Given the description of an element on the screen output the (x, y) to click on. 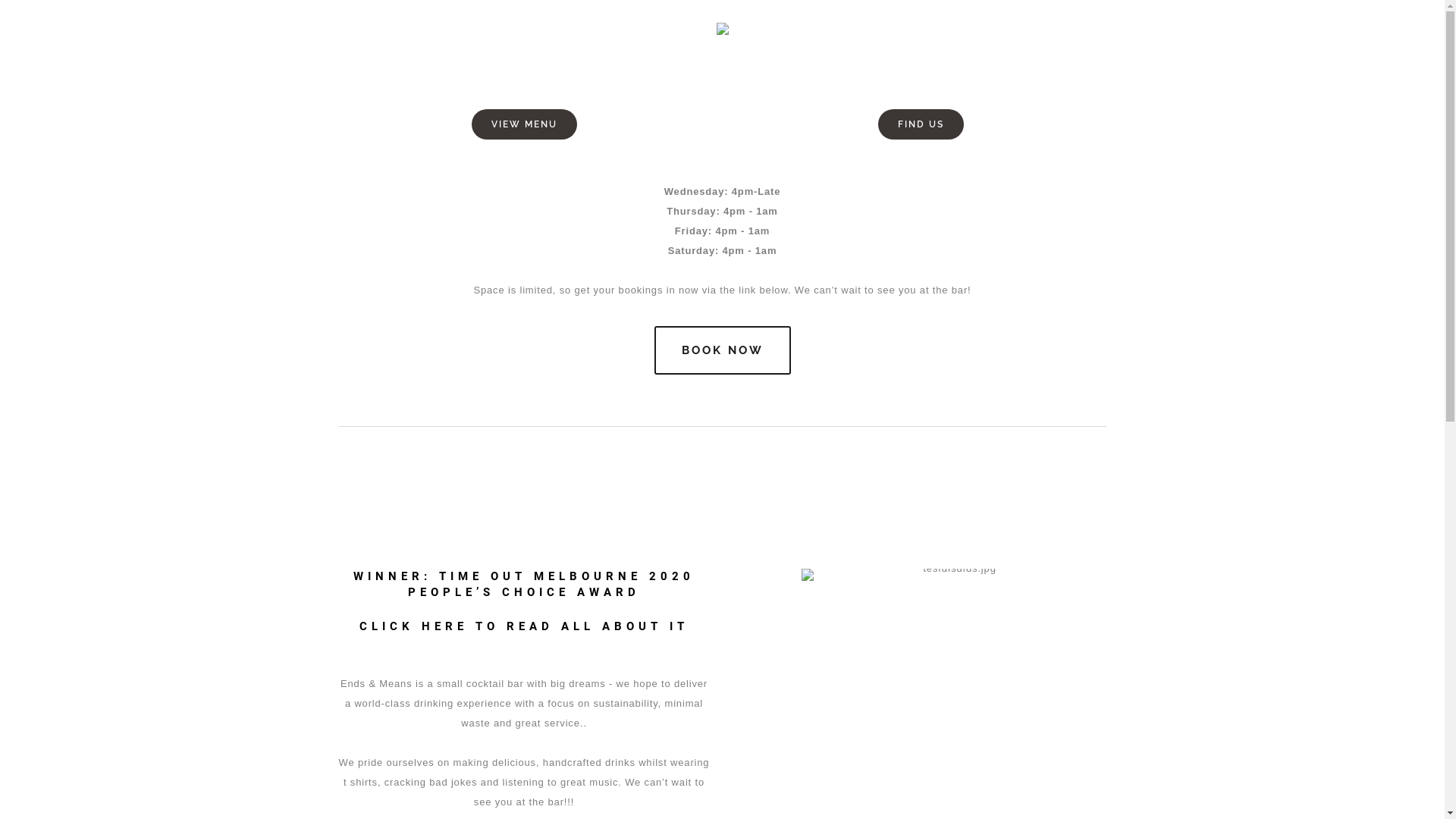
BOOK NOW Element type: text (721, 350)
FIND US Element type: text (920, 124)
VIEW MENU Element type: text (524, 124)
CLICK HERE TO READ ALL ABOUT IT Element type: text (523, 626)
